Given the description of an element on the screen output the (x, y) to click on. 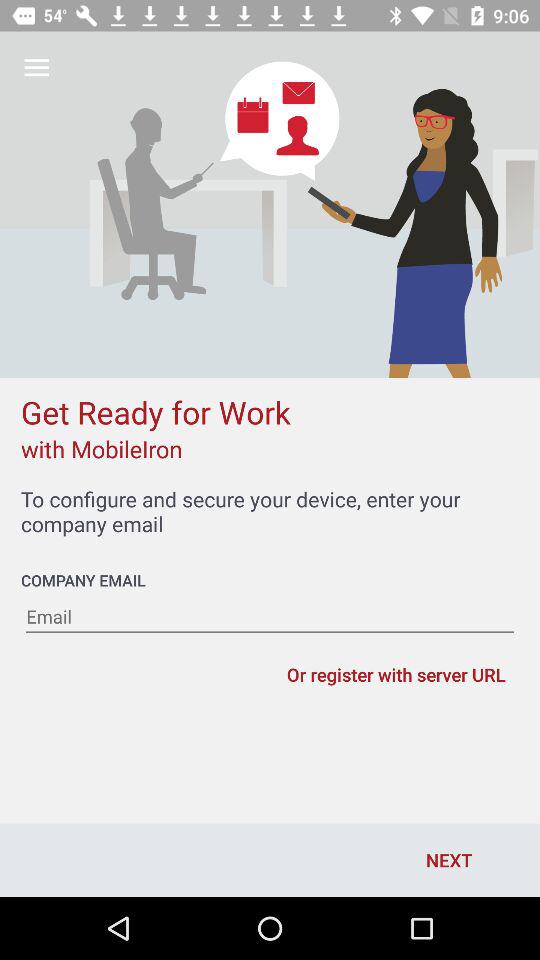
login (270, 617)
